Given the description of an element on the screen output the (x, y) to click on. 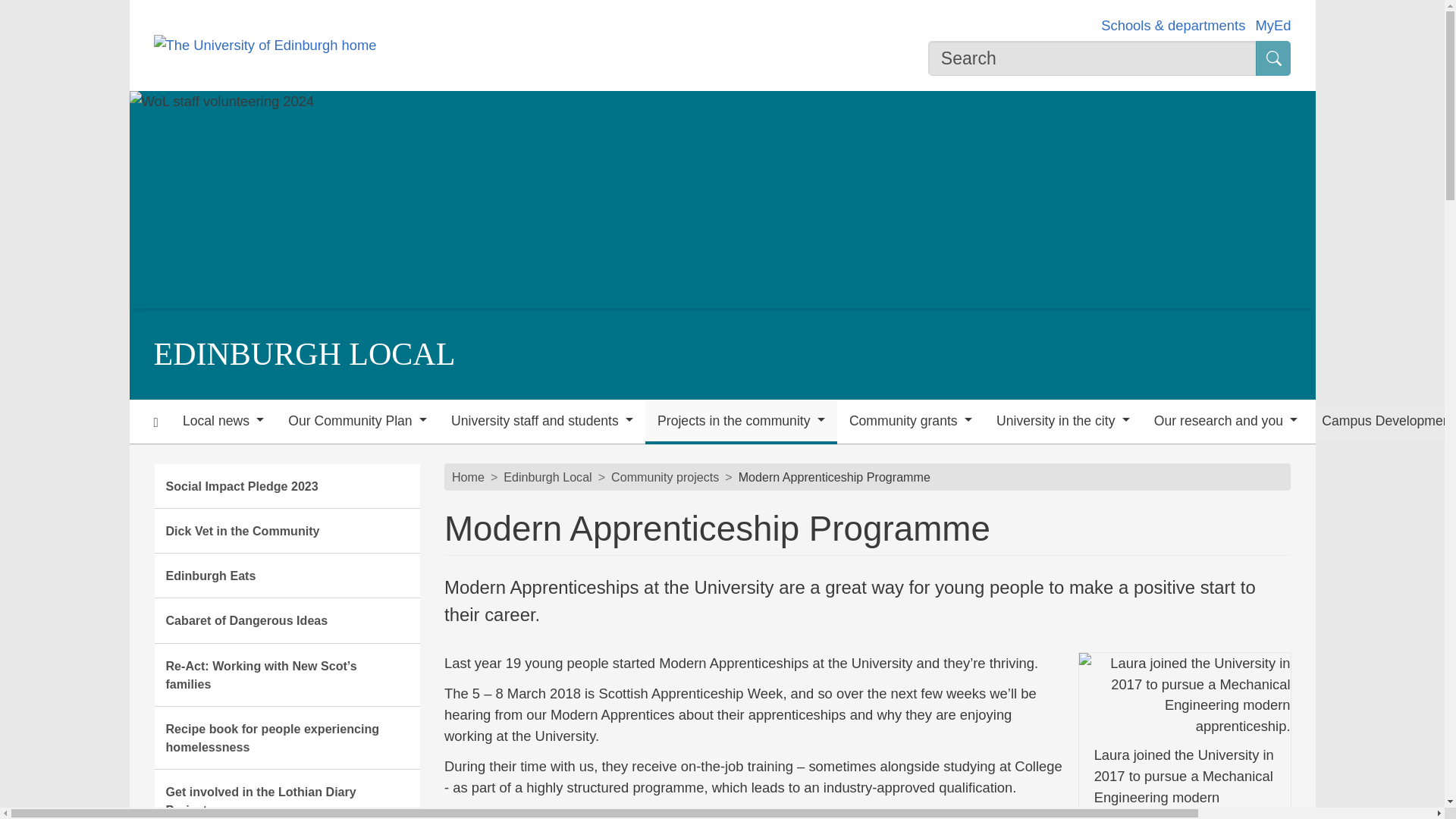
Submit search (1272, 58)
MyEd (1272, 25)
Laura MA 20918 (1184, 694)
Local news (223, 422)
